Given the description of an element on the screen output the (x, y) to click on. 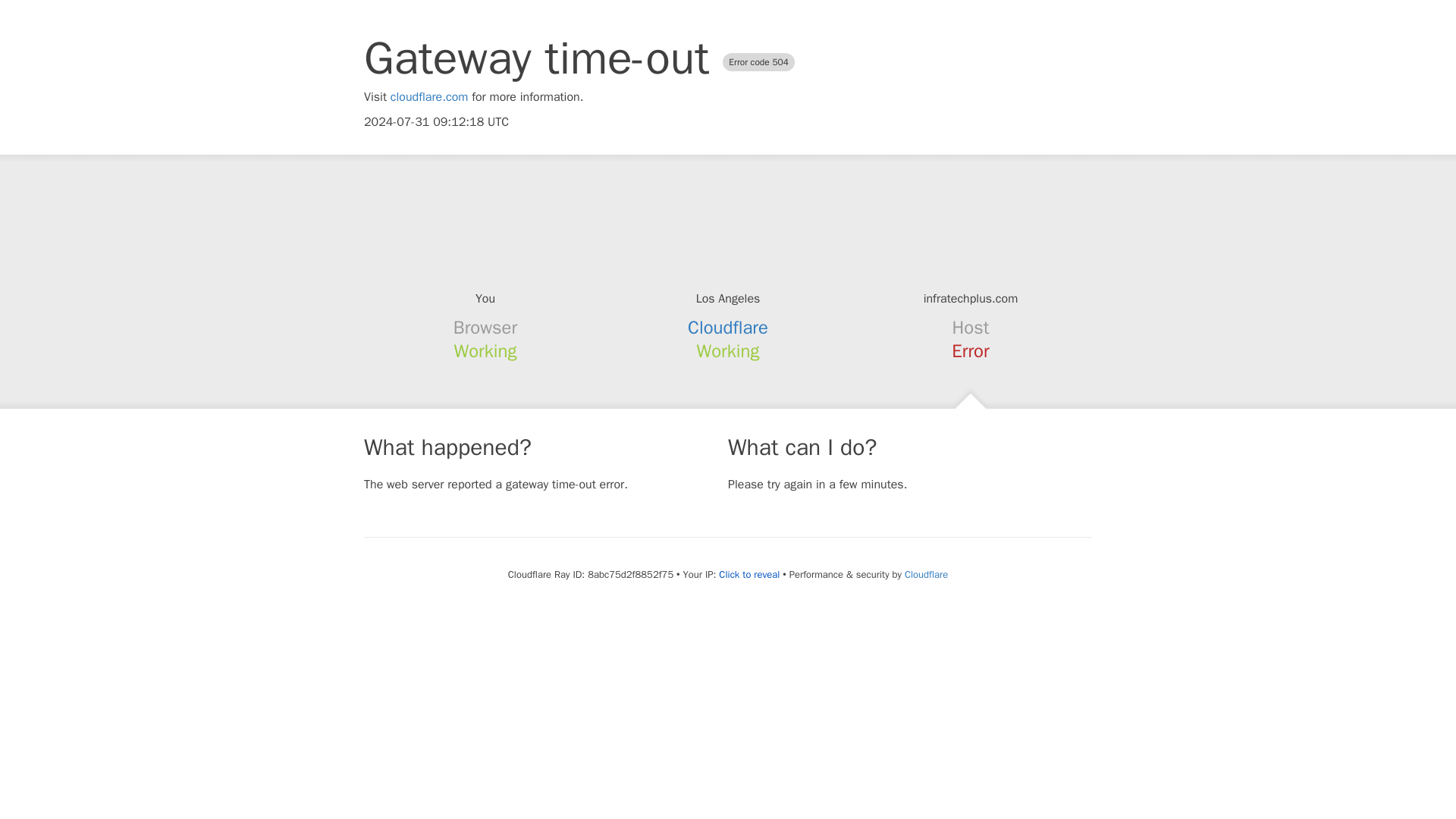
Cloudflare (925, 574)
cloudflare.com (429, 96)
Click to reveal (748, 574)
Cloudflare (727, 327)
